Given the description of an element on the screen output the (x, y) to click on. 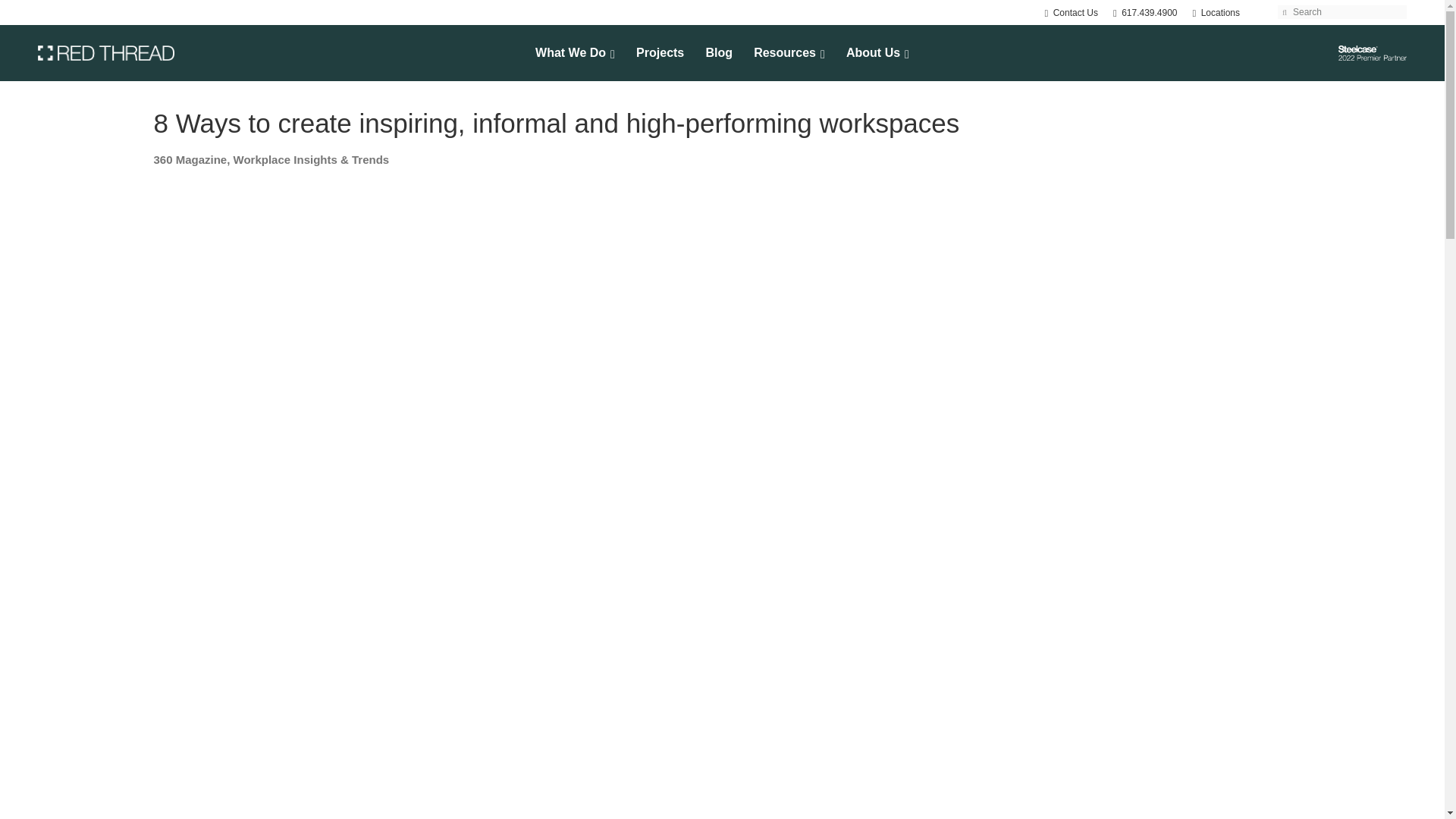
Locations (1216, 12)
Contact Us (1071, 12)
Projects (660, 53)
Resources (789, 53)
Submit Search (1284, 11)
What We Do (1145, 12)
About Us (574, 53)
